Given the description of an element on the screen output the (x, y) to click on. 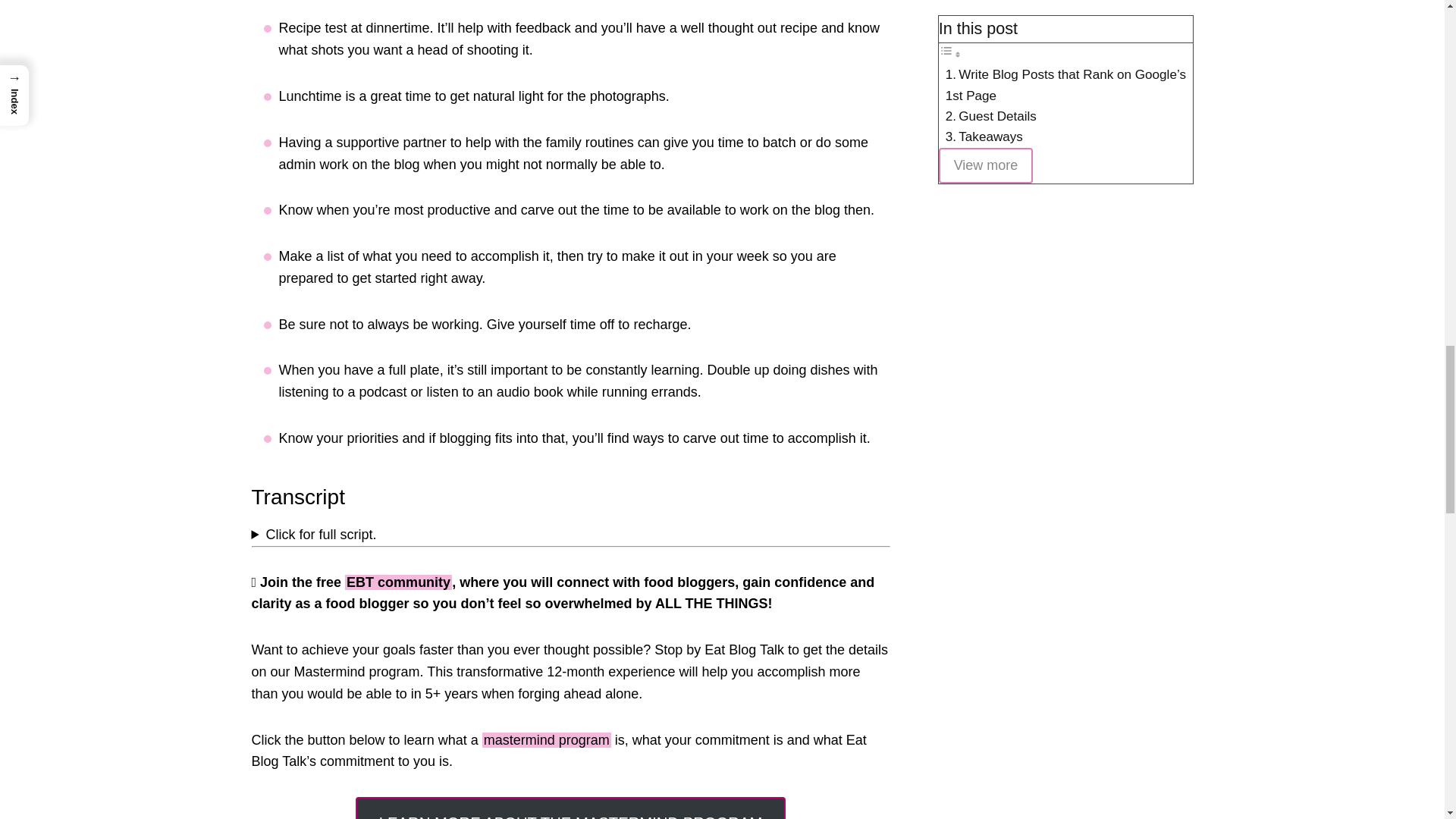
mastermind program (546, 739)
LEARN MORE ABOUT THE MASTERMIND PROGRAM (570, 807)
EBT community (398, 581)
